Given the description of an element on the screen output the (x, y) to click on. 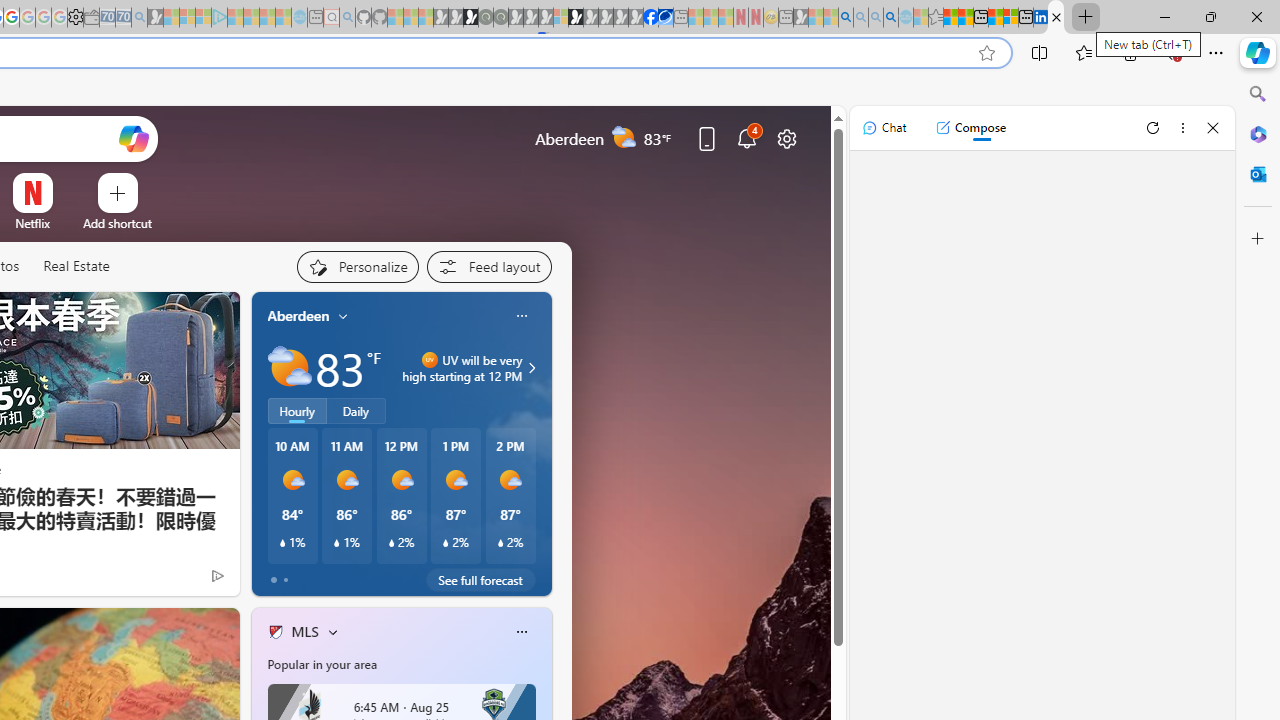
More interests (332, 631)
Personalize your feed" (356, 266)
UV will be very high starting at 12 PM (529, 367)
